Given the description of an element on the screen output the (x, y) to click on. 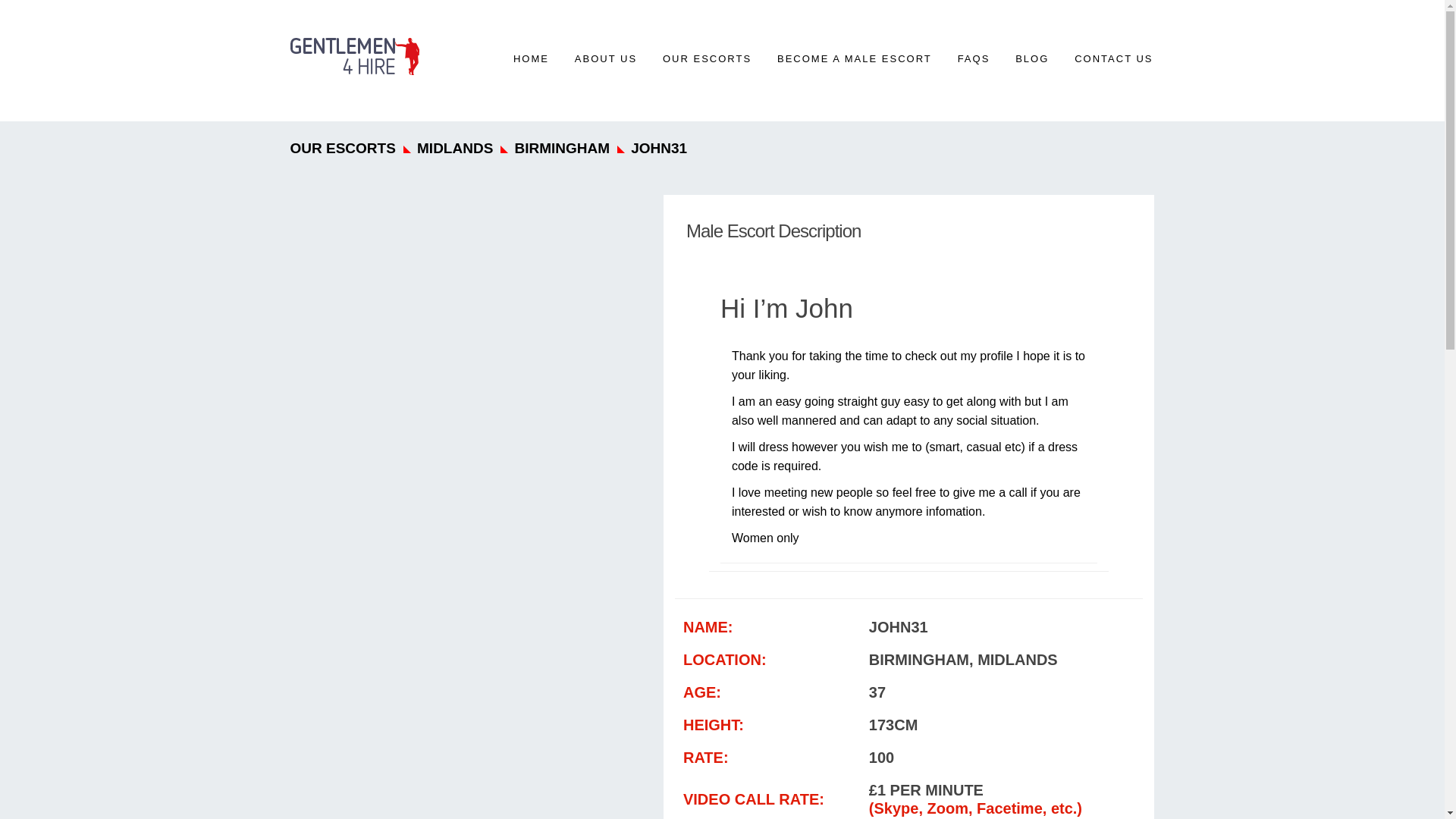
Blog (1031, 58)
Gentlemen 4 Hire (354, 55)
Home (531, 58)
Become a Male Escort (854, 58)
Our Escorts (706, 58)
OUR ESCORTS (706, 58)
Contact Us (1112, 58)
FAQs (973, 58)
About Us (605, 58)
ABOUT US (605, 58)
